Given the description of an element on the screen output the (x, y) to click on. 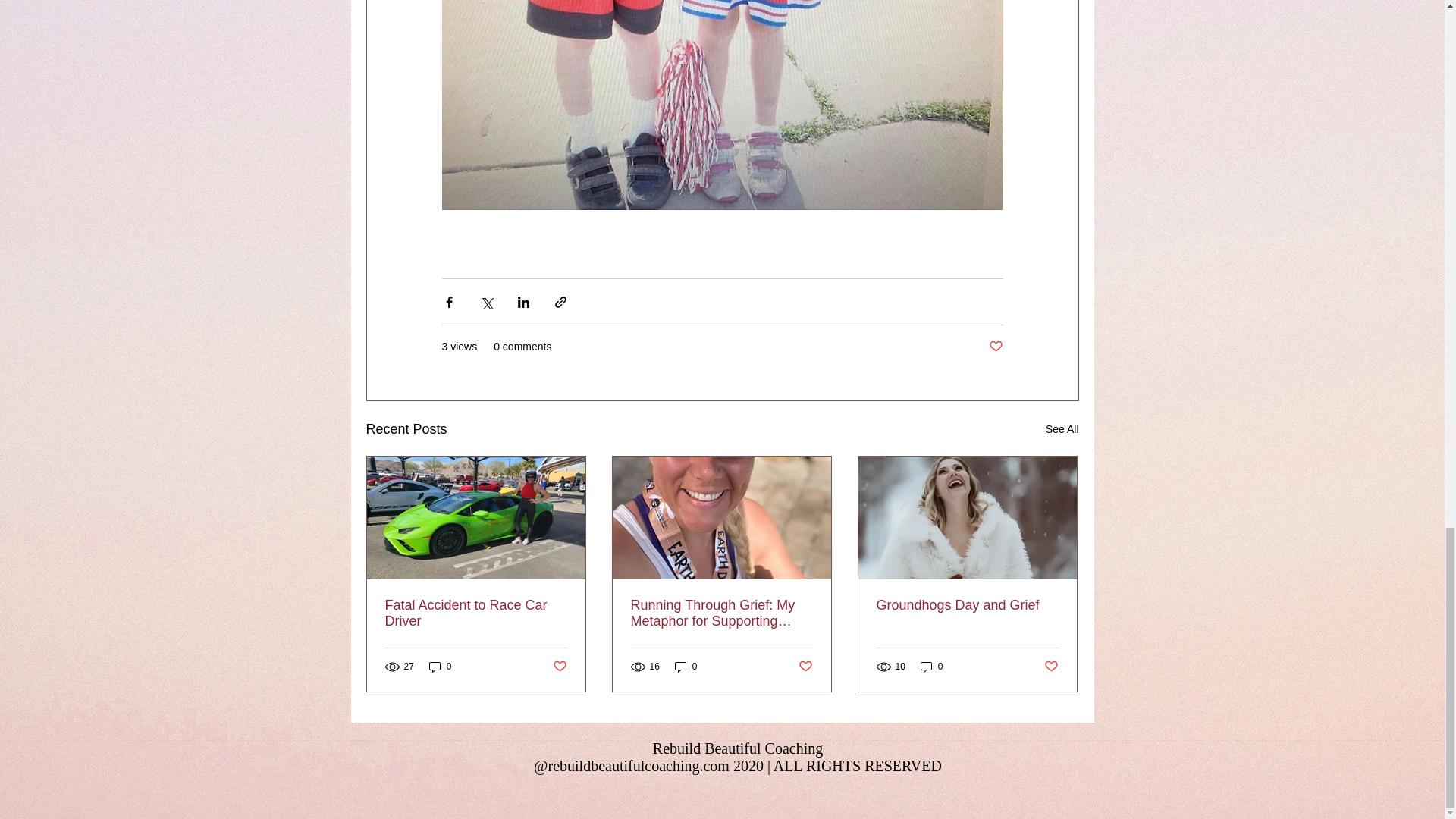
0 (931, 667)
See All (1061, 429)
0 (440, 667)
Running Through Grief: My Metaphor for Supporting Women (721, 613)
0 (685, 667)
Fatal Accident to Race Car Driver (476, 613)
Post not marked as liked (558, 666)
Groundhogs Day and Grief (967, 605)
Post not marked as liked (804, 666)
Post not marked as liked (995, 346)
